Given the description of an element on the screen output the (x, y) to click on. 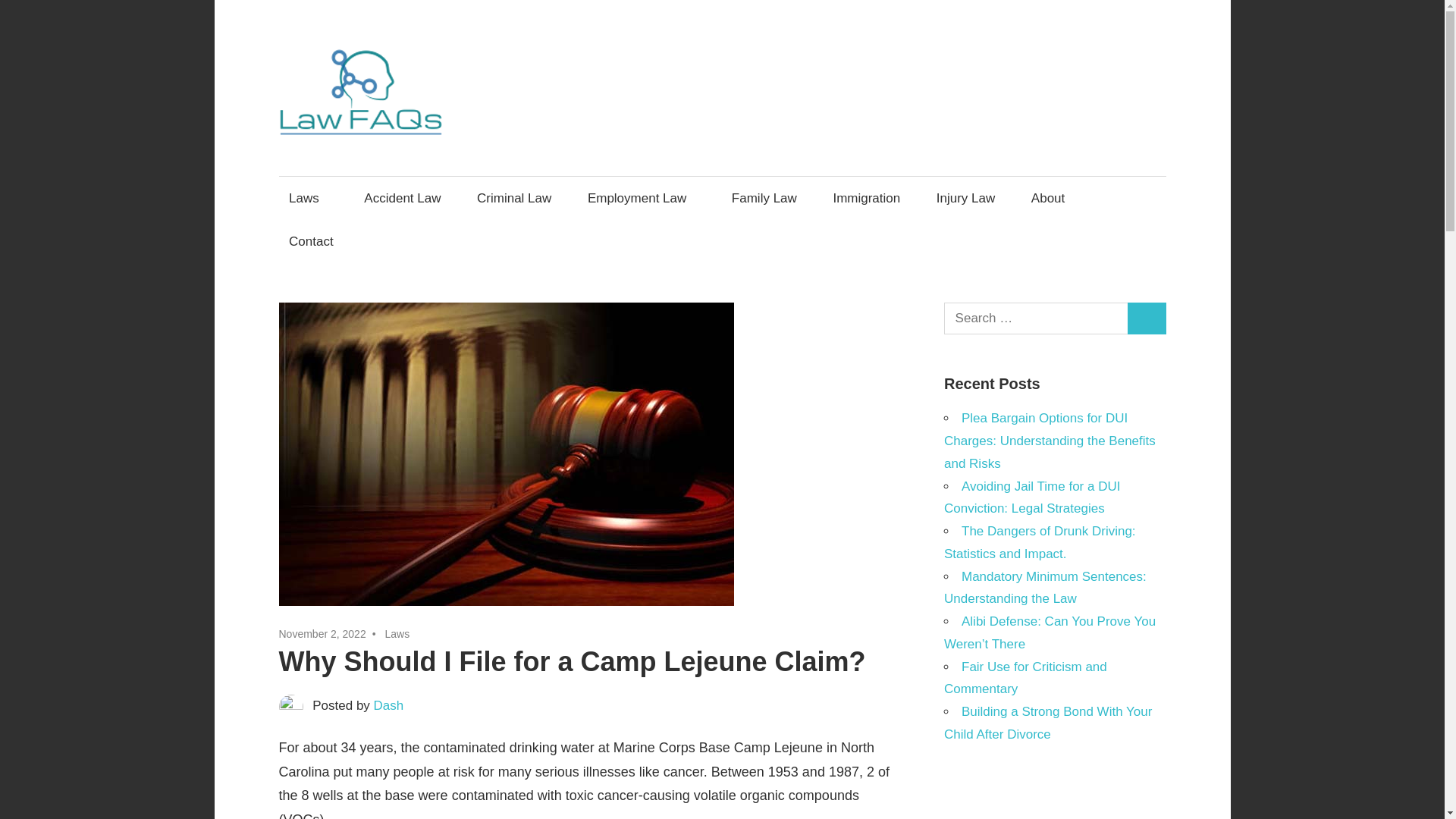
Search (1146, 318)
Contact (311, 241)
November 2, 2022 (322, 633)
Family Law (763, 198)
Dash (389, 705)
Laws (396, 633)
The Dangers of Drunk Driving: Statistics and Impact. (1039, 542)
Immigration (866, 198)
About (1052, 198)
Search for: (1035, 318)
Laws (309, 198)
Accident Law (402, 198)
Employment Law (641, 198)
Injury Law (966, 198)
Avoiding Jail Time for a DUI Conviction: Legal Strategies (1031, 497)
